Given the description of an element on the screen output the (x, y) to click on. 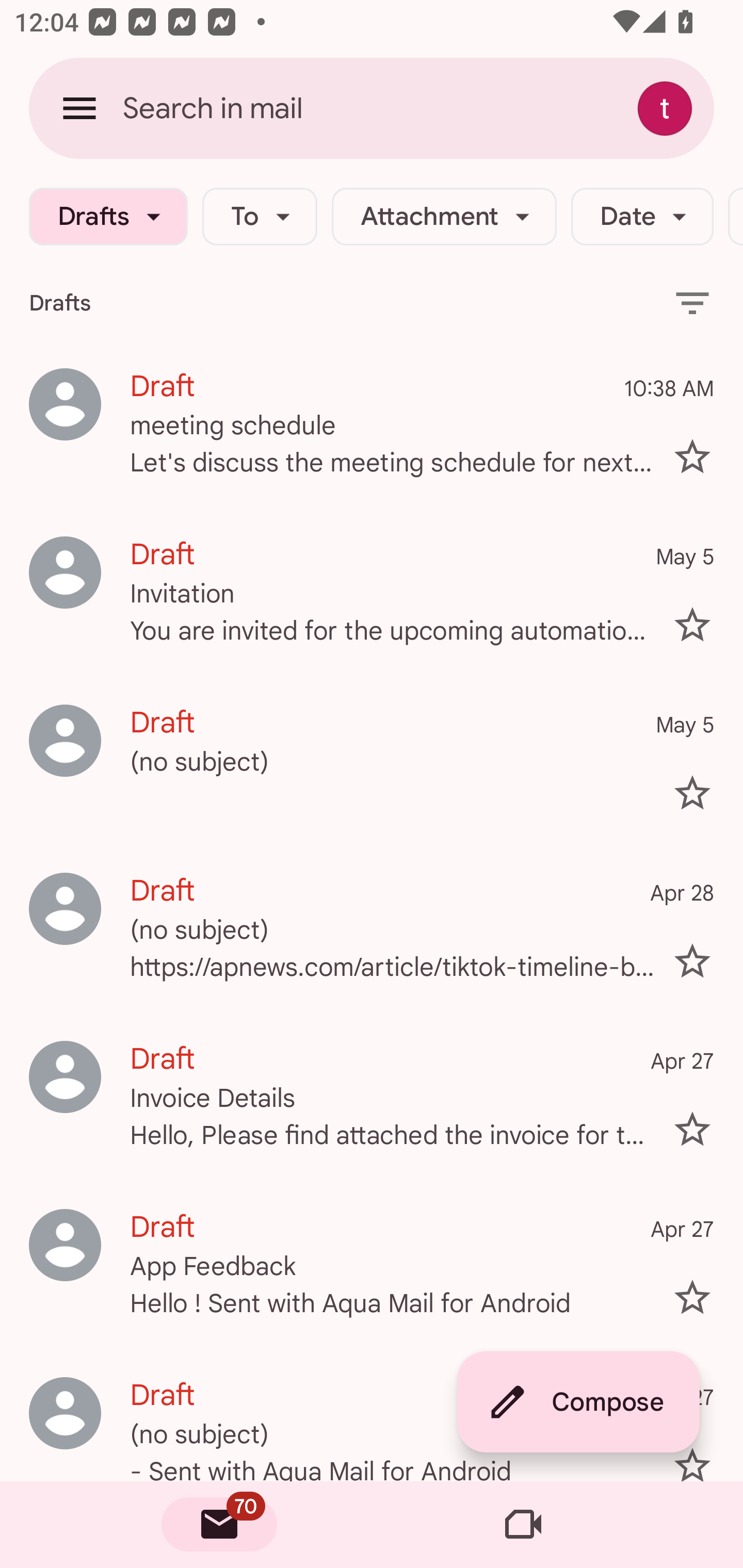
Open navigation drawer (79, 108)
Drafts (107, 217)
To (259, 217)
Attachment (444, 217)
Date (642, 217)
Filter icon (692, 302)
Compose (577, 1401)
Meet (523, 1524)
